Given the description of an element on the screen output the (x, y) to click on. 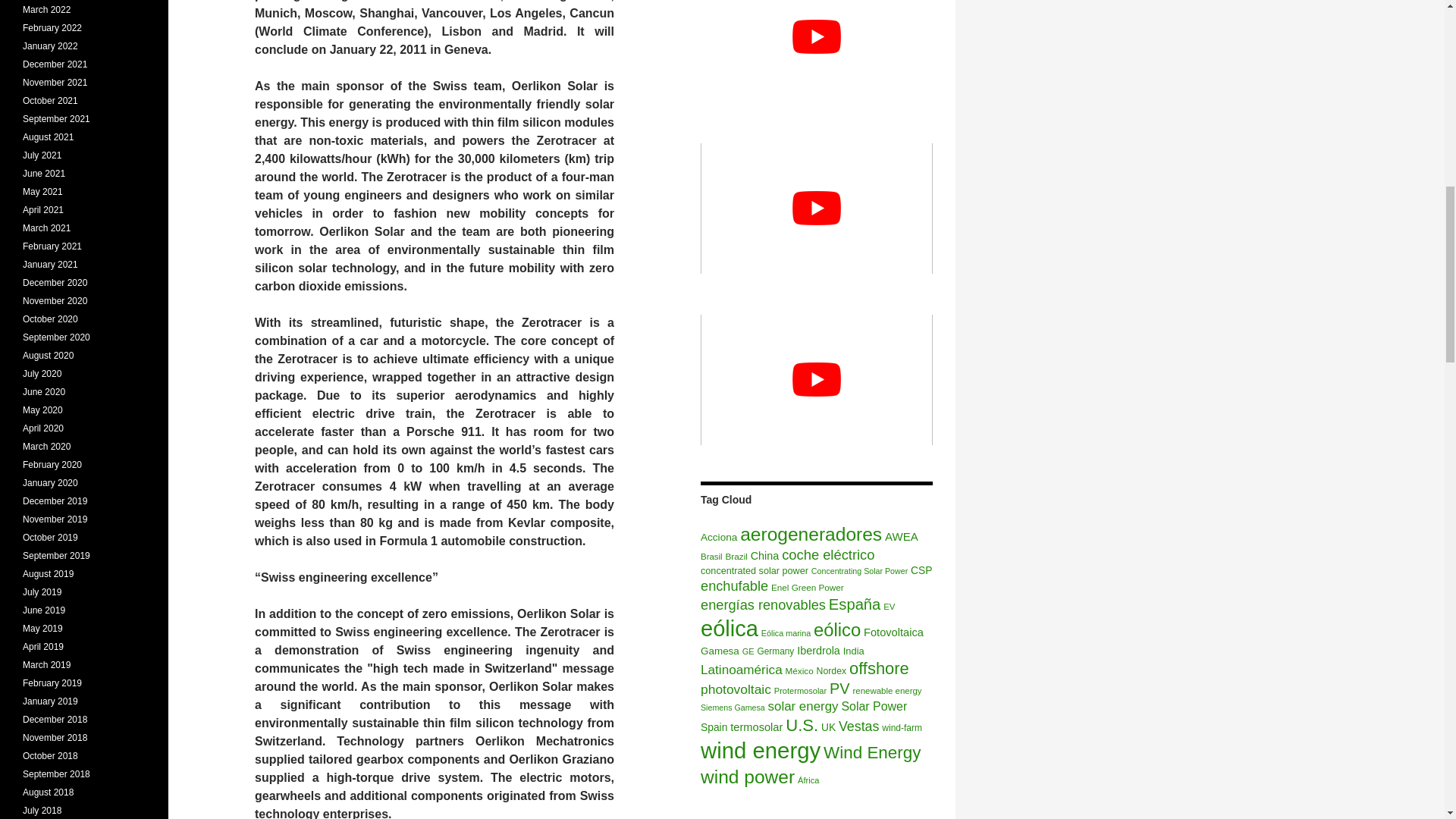
Brasil (711, 556)
aerogeneradores (810, 534)
Acciona (718, 536)
Brazil (736, 556)
AWEA (901, 535)
